Given the description of an element on the screen output the (x, y) to click on. 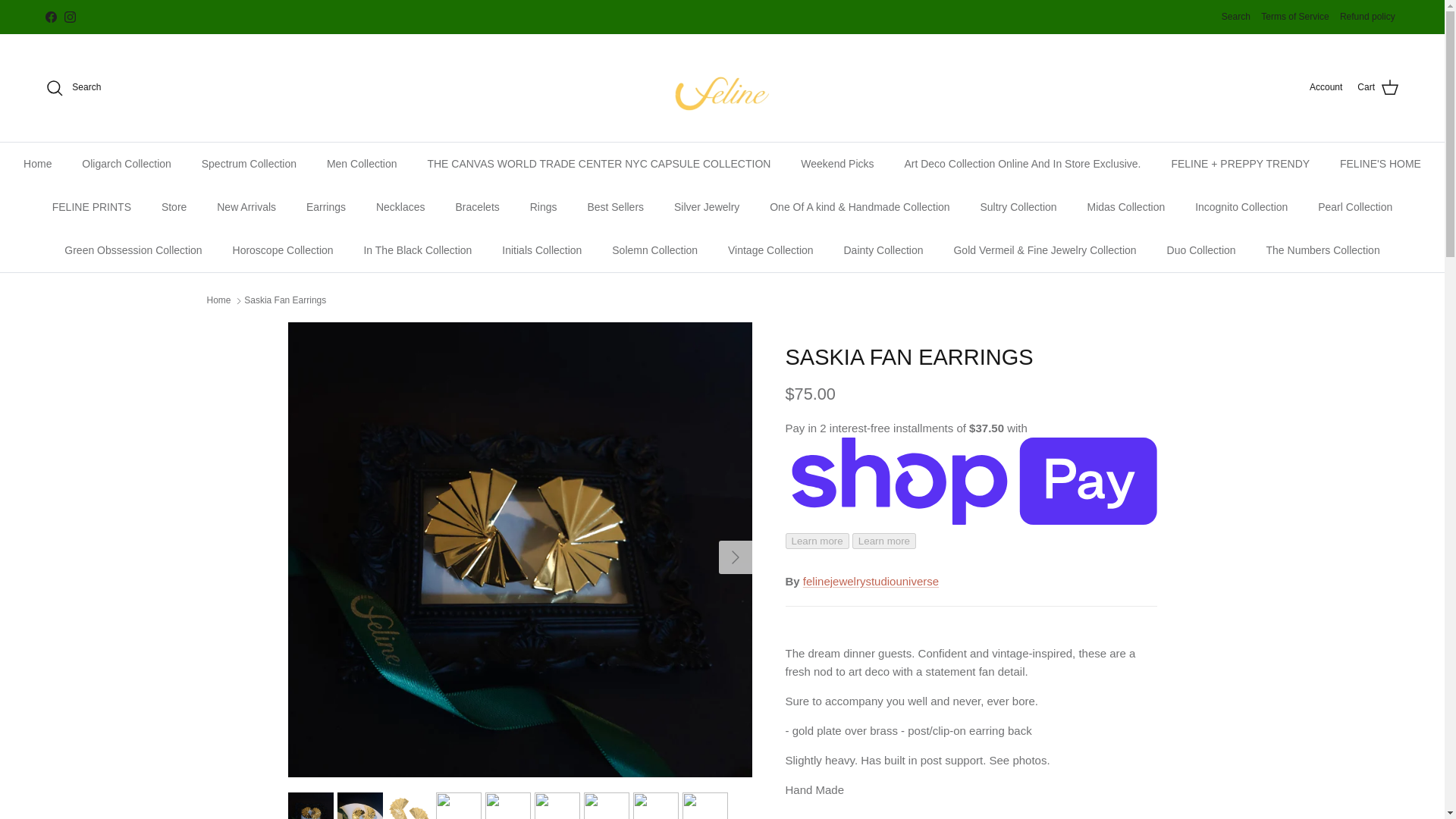
Instagram (69, 16)
Search (1235, 16)
Refund policy (1366, 16)
felinejewelrystudiouniverse on Instagram (69, 16)
felinejewelrystudiouniverse (721, 87)
Facebook (50, 16)
Terms of Service (1293, 16)
felinejewelrystudiouniverse on Facebook (50, 16)
Search (72, 87)
